Given the description of an element on the screen output the (x, y) to click on. 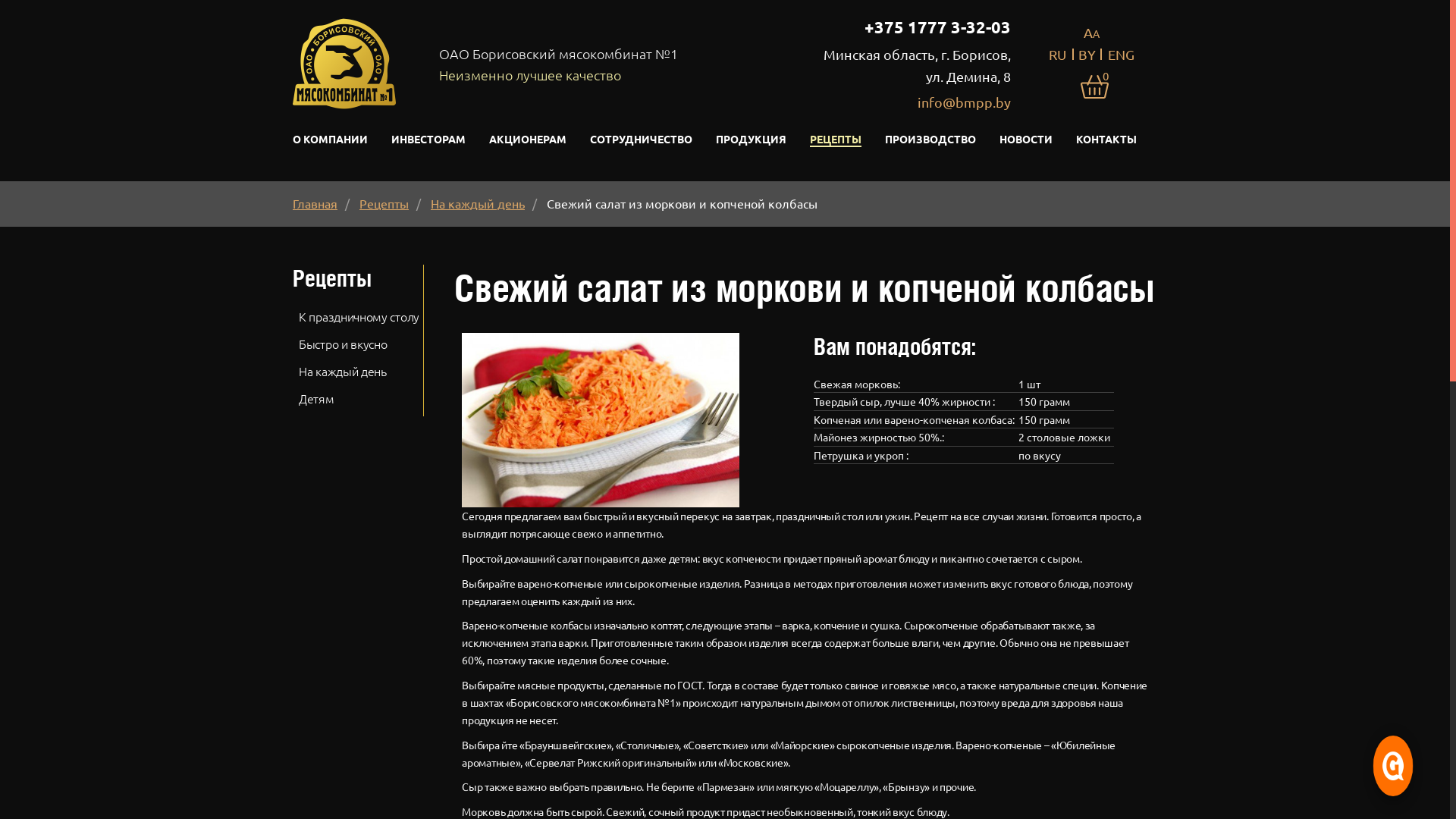
info@bmpp.by Element type: text (963, 101)
BY Element type: text (1086, 54)
+375 1777 3-32-03 Element type: text (937, 26)
ENG Element type: text (1120, 54)
0 Element type: text (1094, 85)
RU Element type: text (1057, 54)
